Given the description of an element on the screen output the (x, y) to click on. 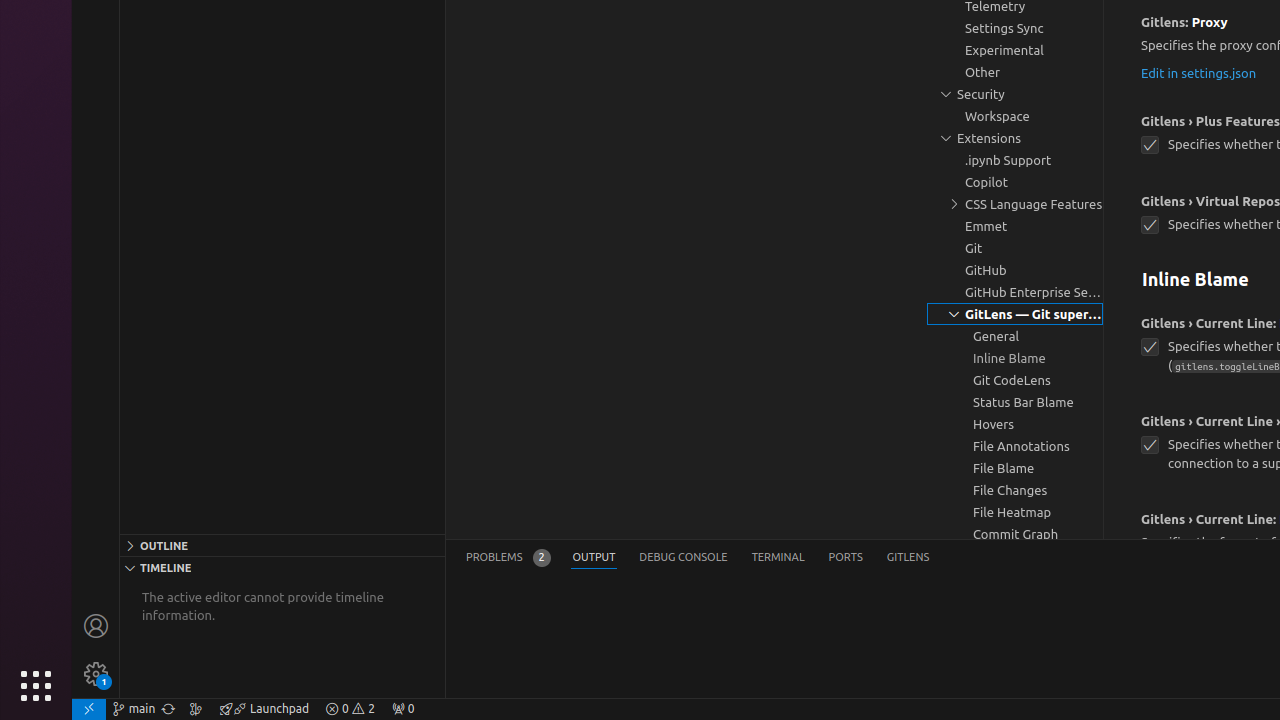
Settings Sync, group Element type: tree-item (1015, 28)
Accounts Element type: push-button (96, 626)
.ipynb Support, group Element type: tree-item (1015, 160)
gitlens.virtualRepositories.enabled Element type: check-box (1150, 225)
Git, group Element type: tree-item (1015, 248)
